Given the description of an element on the screen output the (x, y) to click on. 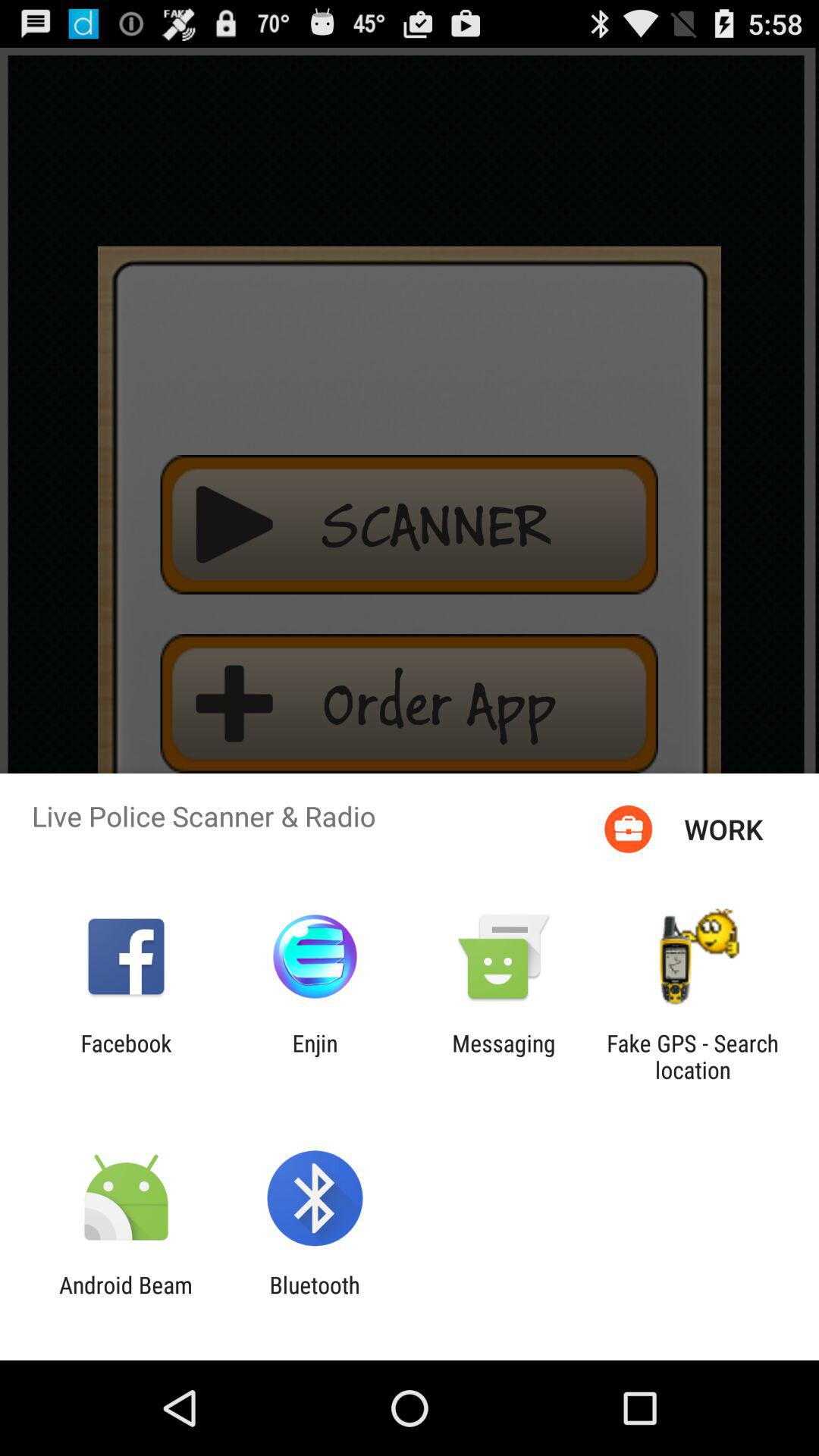
click the app to the left of enjin app (125, 1056)
